Given the description of an element on the screen output the (x, y) to click on. 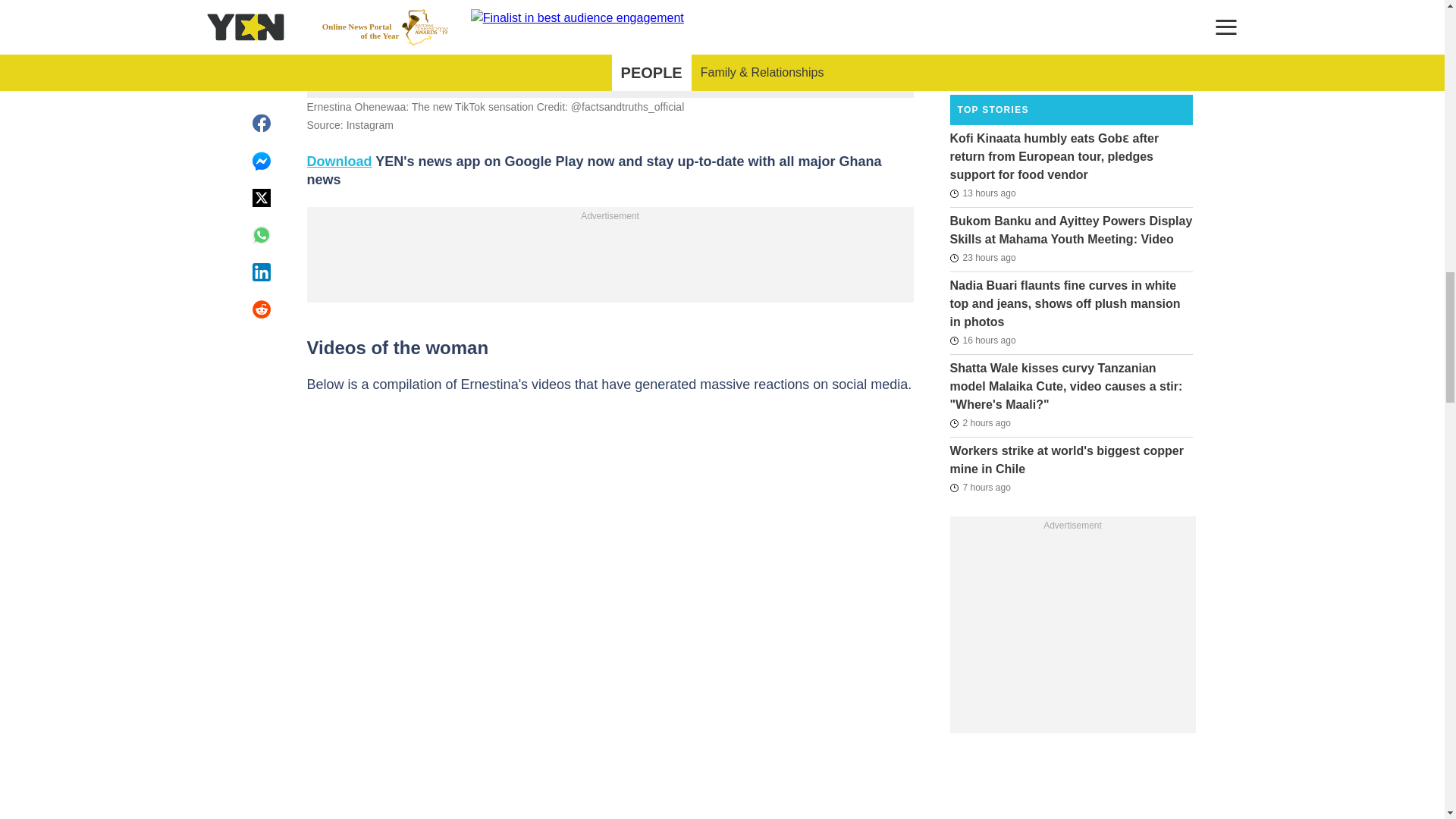
2024-08-14T11:08:02Z (987, 65)
2024-08-14T08:59:17Z (979, 423)
2024-08-13T22:16:47Z (981, 193)
2024-08-13T12:44:49Z (981, 257)
2024-08-13T19:23:17Z (981, 340)
2024-08-14T04:56:03Z (979, 487)
